Given the description of an element on the screen output the (x, y) to click on. 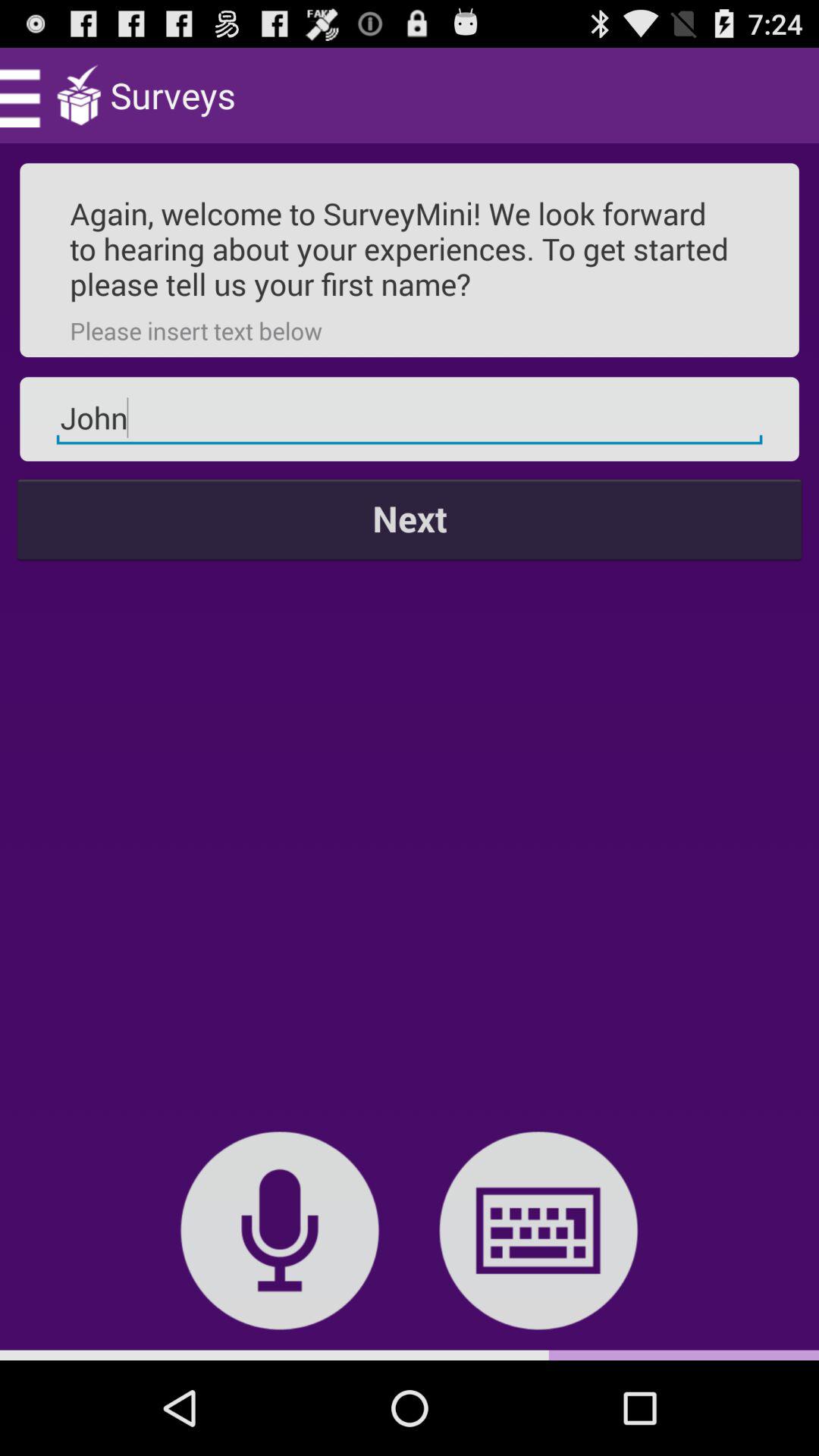
jump to the john icon (409, 419)
